Given the description of an element on the screen output the (x, y) to click on. 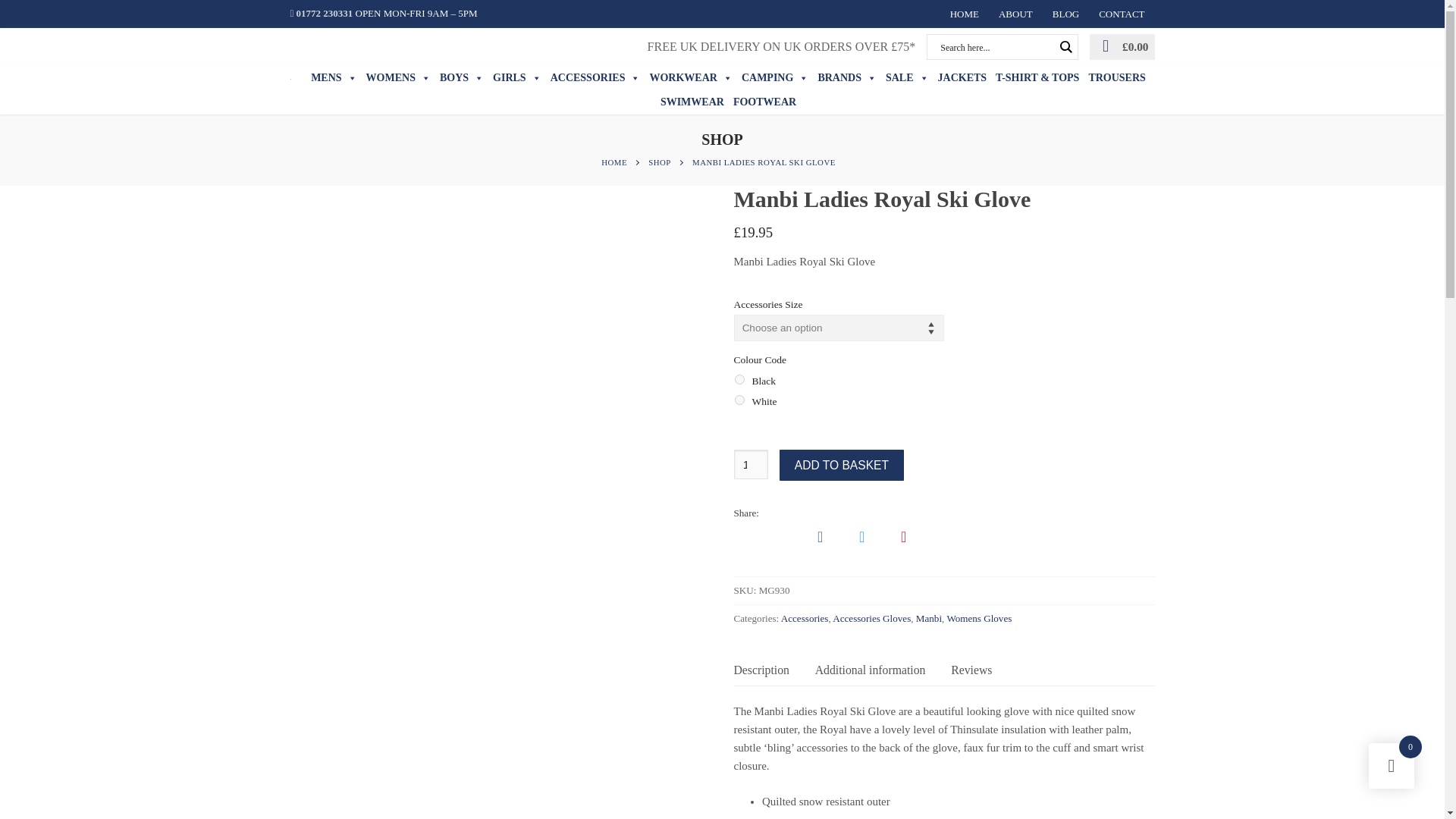
white (738, 399)
CONTACT (1121, 13)
HOME (964, 13)
MENS (333, 78)
ABOUT (1015, 13)
black (738, 379)
01772 230331 (320, 12)
BLOG (1065, 13)
1 (750, 464)
